Given the description of an element on the screen output the (x, y) to click on. 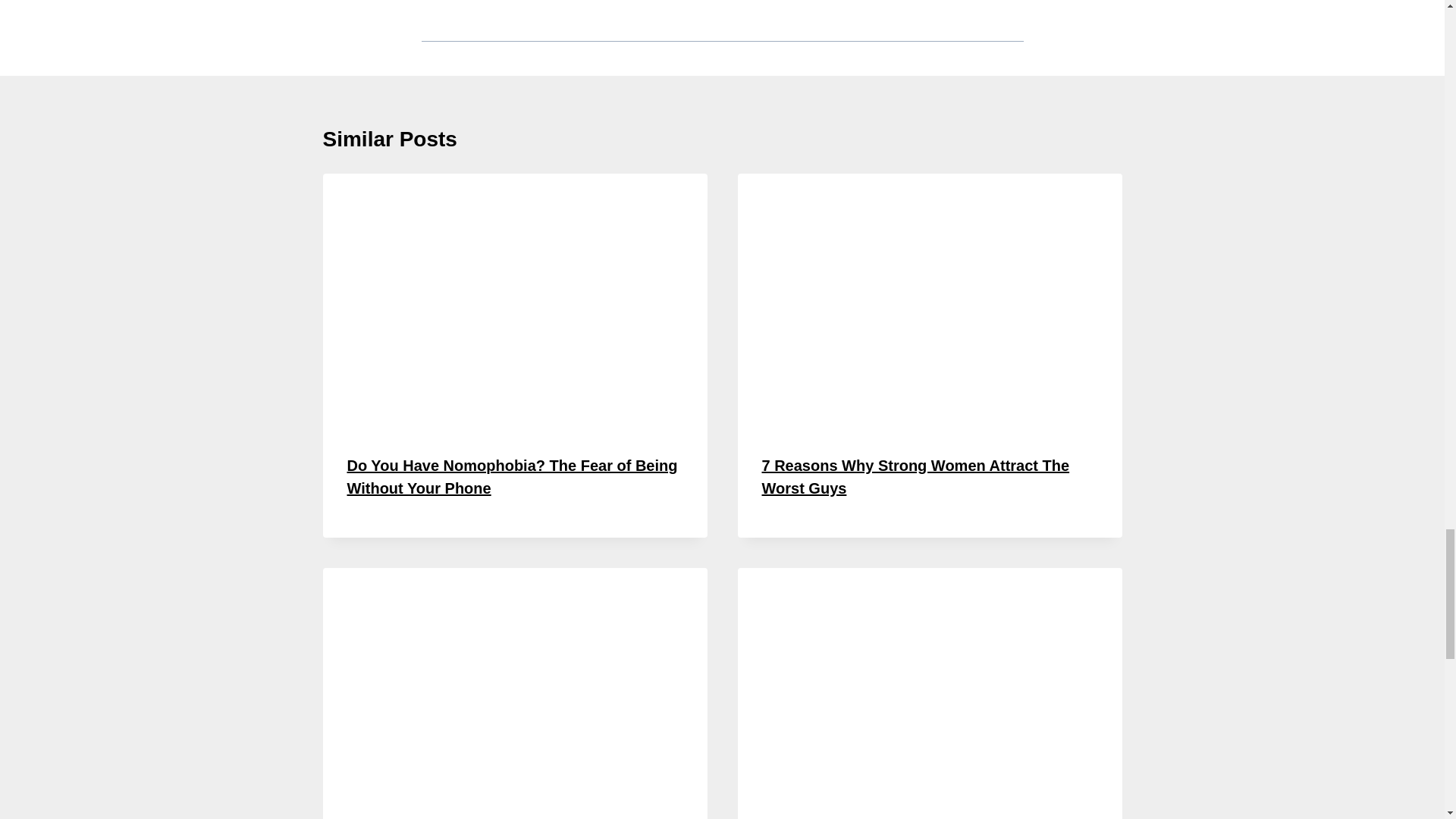
Do You Have Nomophobia? The Fear of Being Without Your Phone (512, 476)
7 Reasons Why Strong Women Attract The Worst Guys (914, 476)
